Given the description of an element on the screen output the (x, y) to click on. 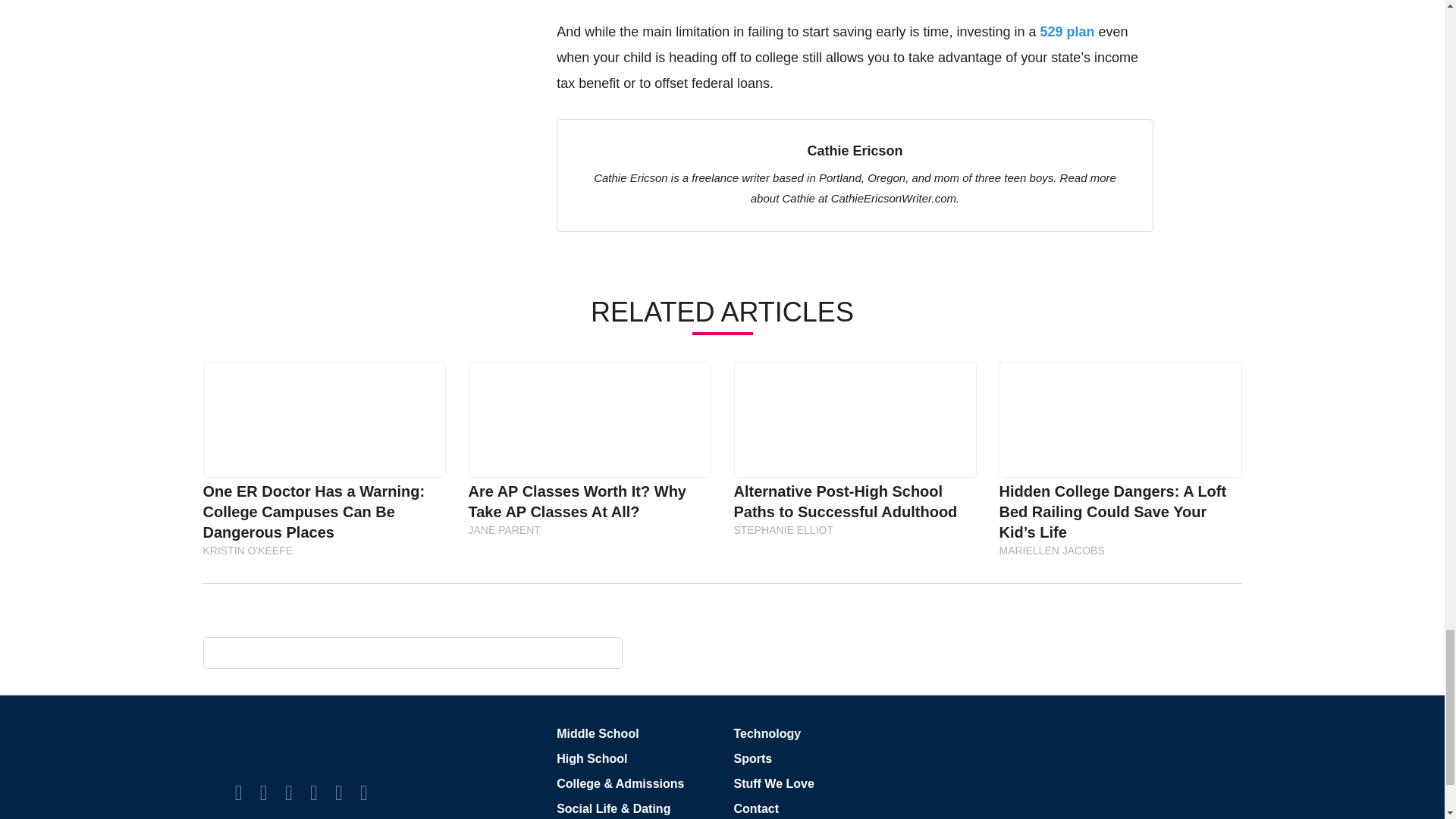
Twitter (263, 792)
Are AP Classes Worth It? Why Take AP Classes At All? (589, 419)
Facebook (238, 792)
Your Teen Podcast (363, 792)
Pinterest (313, 792)
YouTube (338, 792)
Alternative Post-High School Paths to Successful Adulthood (854, 419)
Instagram (288, 792)
